Given the description of an element on the screen output the (x, y) to click on. 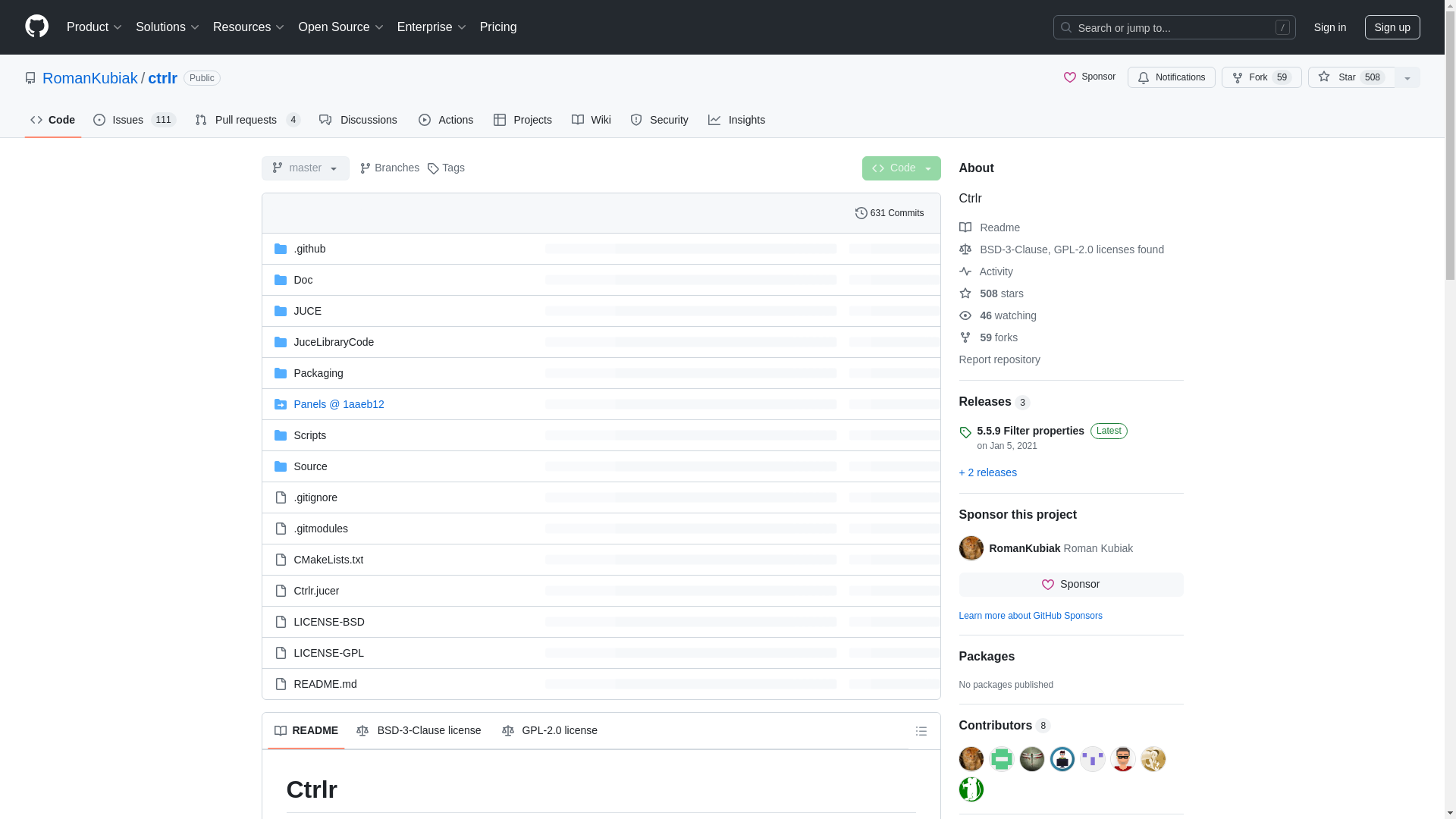
.github (310, 248)
111 (163, 119)
59 (1281, 77)
Resources (249, 27)
Open Source (341, 27)
4 (293, 119)
508 (1372, 77)
JUCE (307, 310)
Product (95, 27)
